Given the description of an element on the screen output the (x, y) to click on. 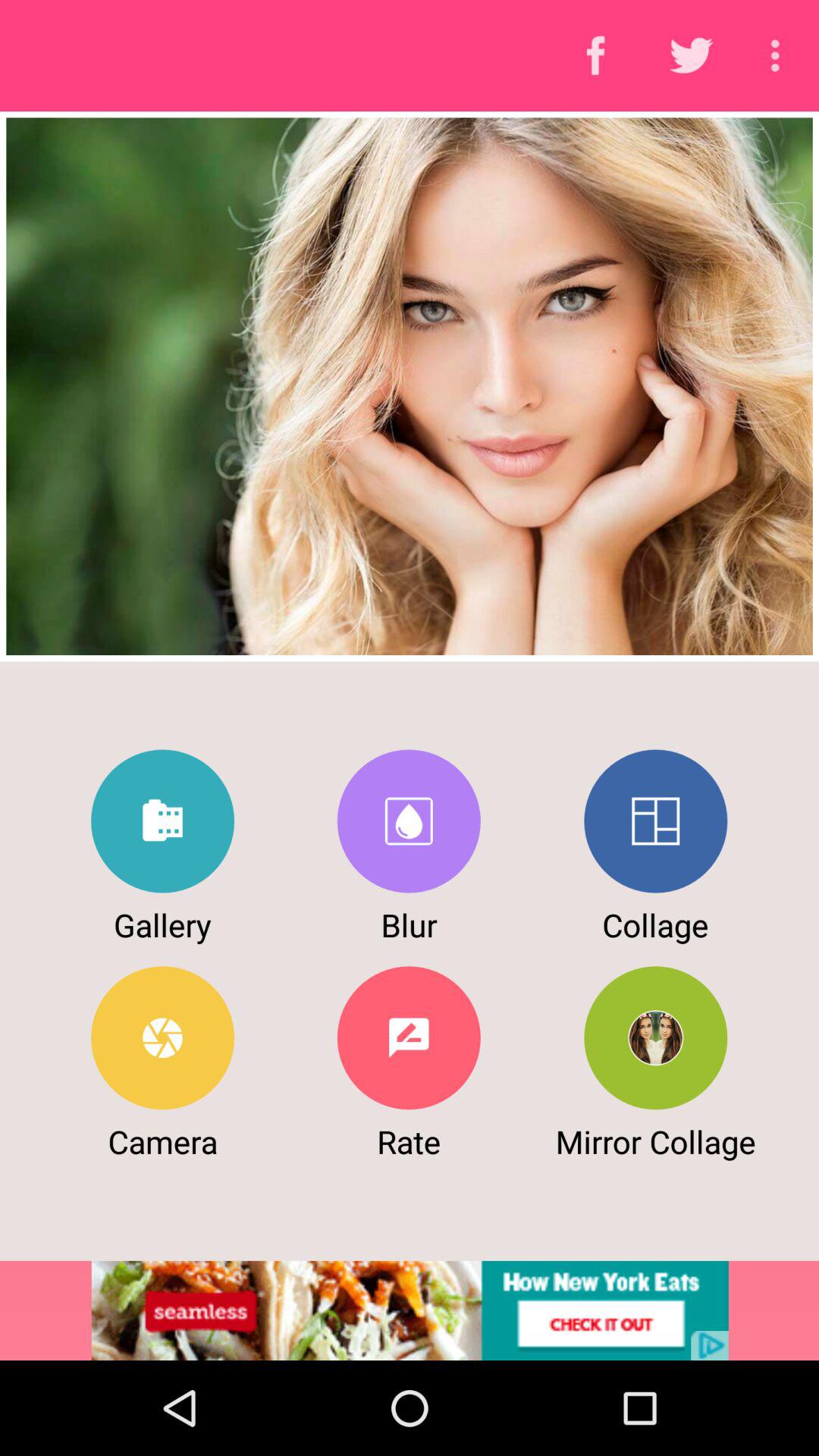
switch autoplay option (655, 820)
